Given the description of an element on the screen output the (x, y) to click on. 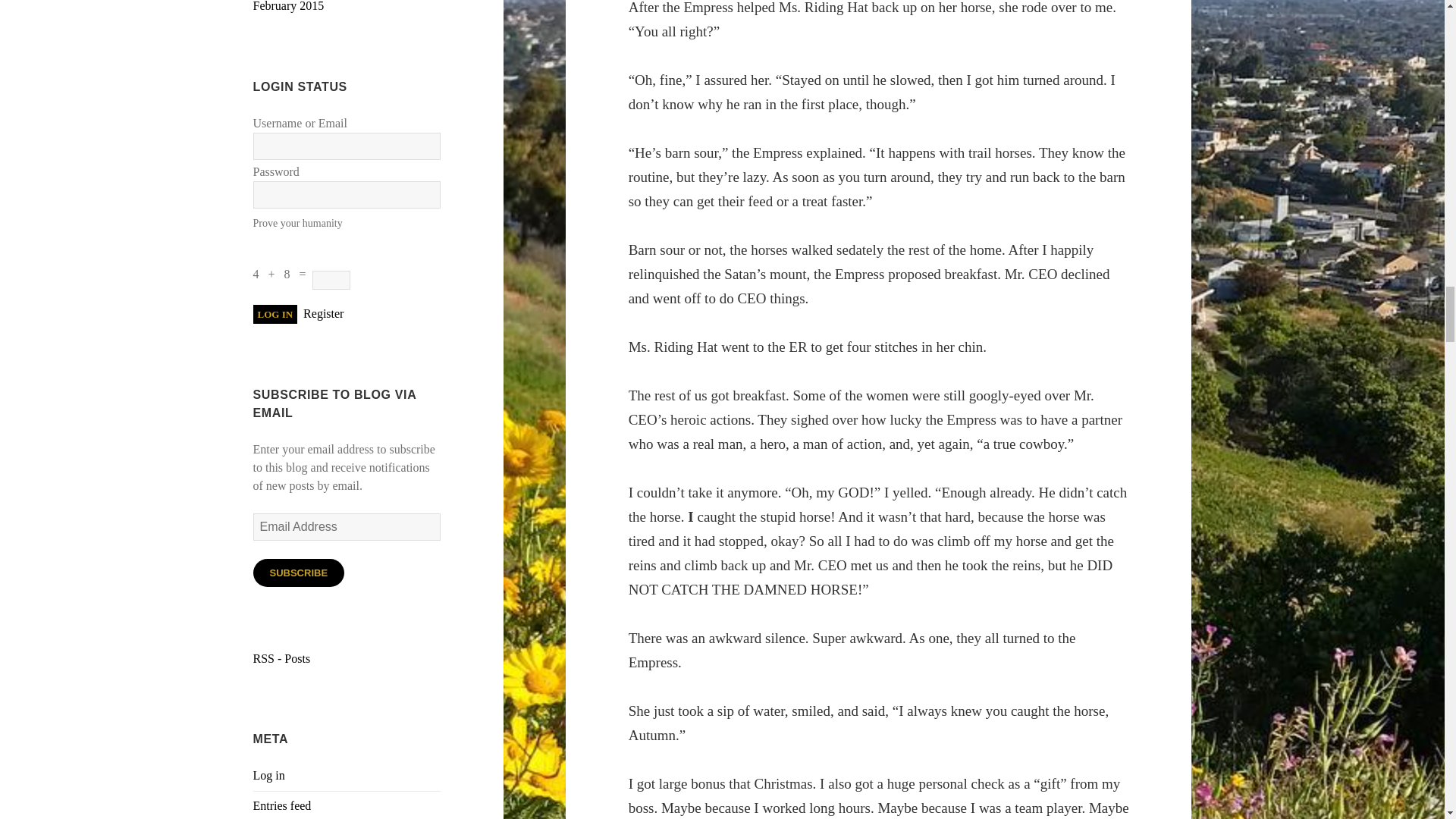
log in (275, 313)
Subscribe to posts (282, 658)
